Given the description of an element on the screen output the (x, y) to click on. 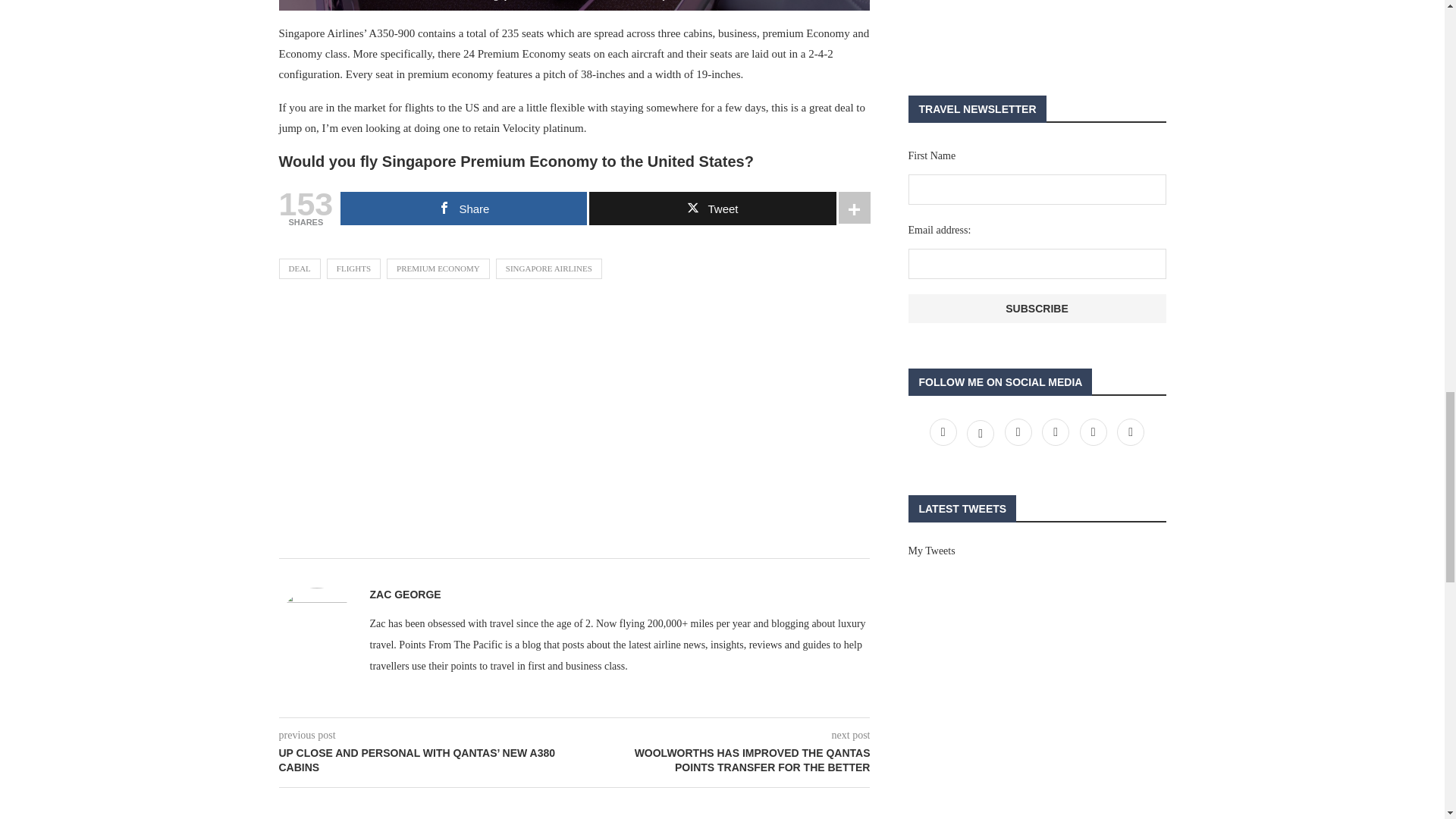
Tweet (712, 208)
ZAC GEORGE (405, 594)
DEAL (299, 268)
SINGAPORE AIRLINES (549, 268)
FLIGHTS (353, 268)
Subscribe (1037, 308)
Author Zac George (405, 594)
Share (463, 208)
PREMIUM ECONOMY (438, 268)
